Given the description of an element on the screen output the (x, y) to click on. 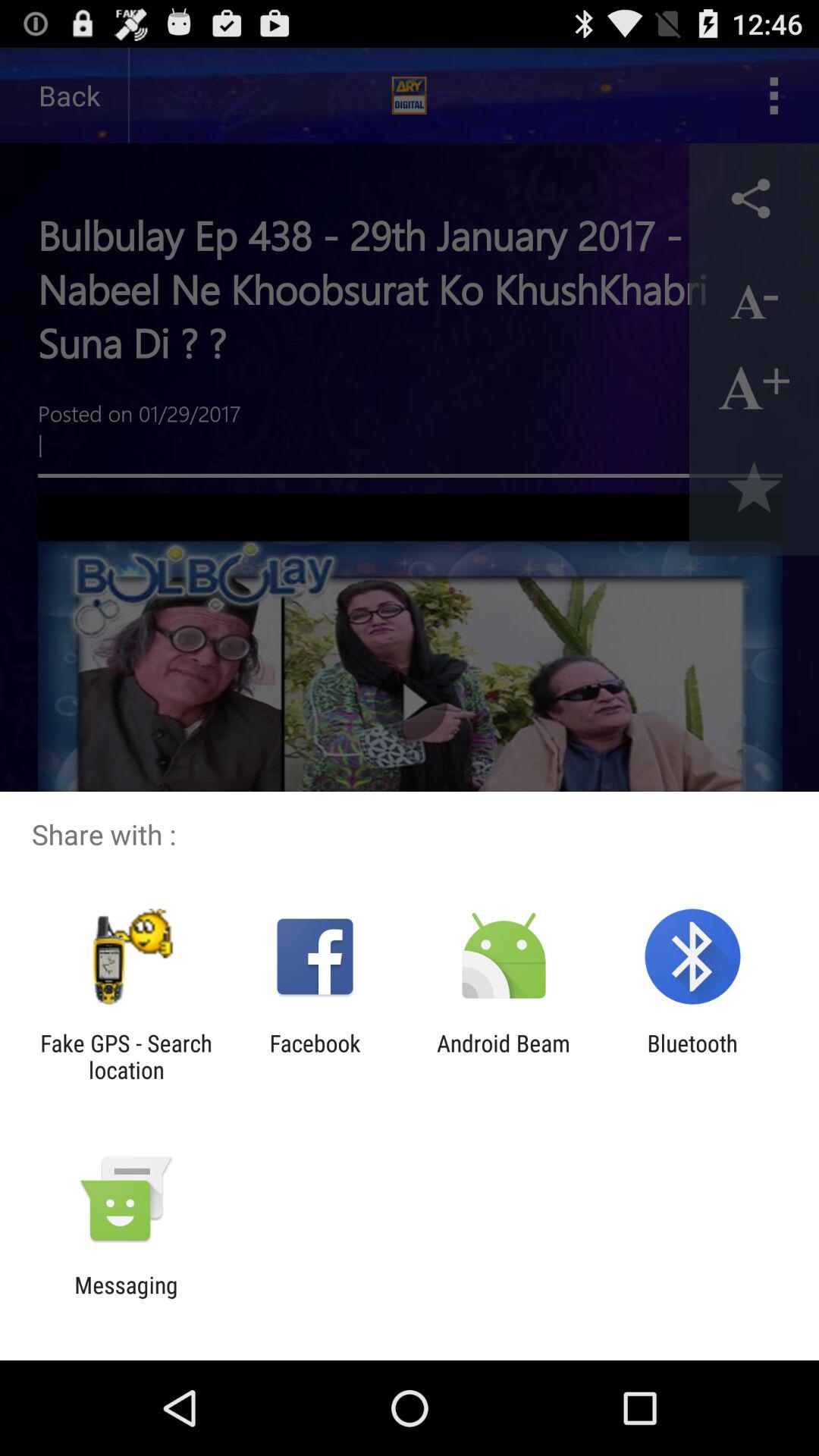
tap the app at the bottom right corner (692, 1056)
